Given the description of an element on the screen output the (x, y) to click on. 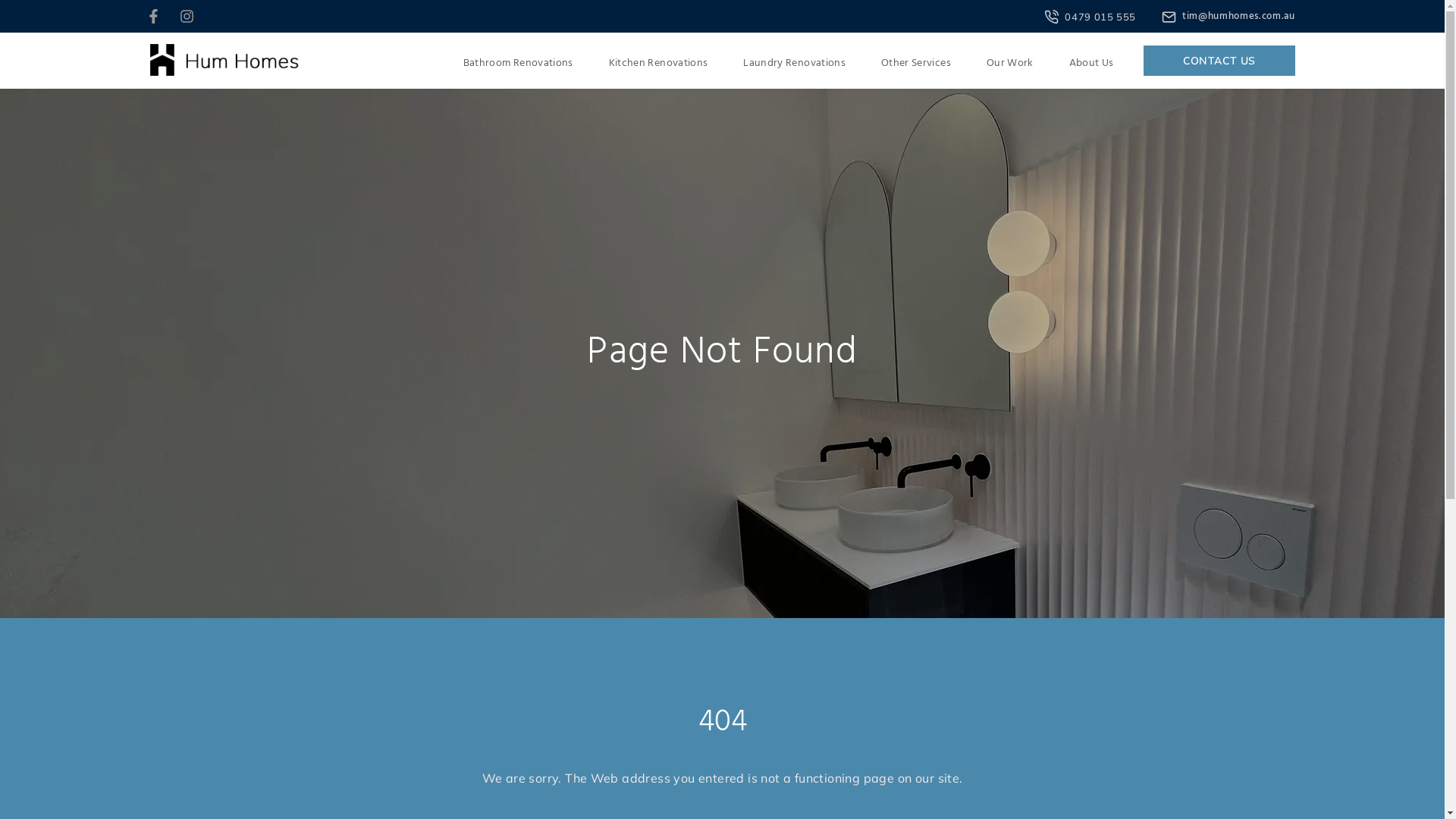
CONTACT US Element type: text (1219, 60)
About Us Element type: text (1091, 63)
Our Work Element type: text (1009, 63)
0479 015 555 Element type: text (1089, 16)
Hum Homes Element type: hover (224, 60)
Instagram Element type: hover (185, 14)
tim@humhomes.com.au Element type: text (1227, 16)
Bathroom Renovations Element type: text (518, 63)
Laundry Renovations Element type: text (794, 63)
Facebook Element type: hover (152, 14)
Kitchen Renovations Element type: text (658, 63)
Other Services Element type: text (916, 63)
